Given the description of an element on the screen output the (x, y) to click on. 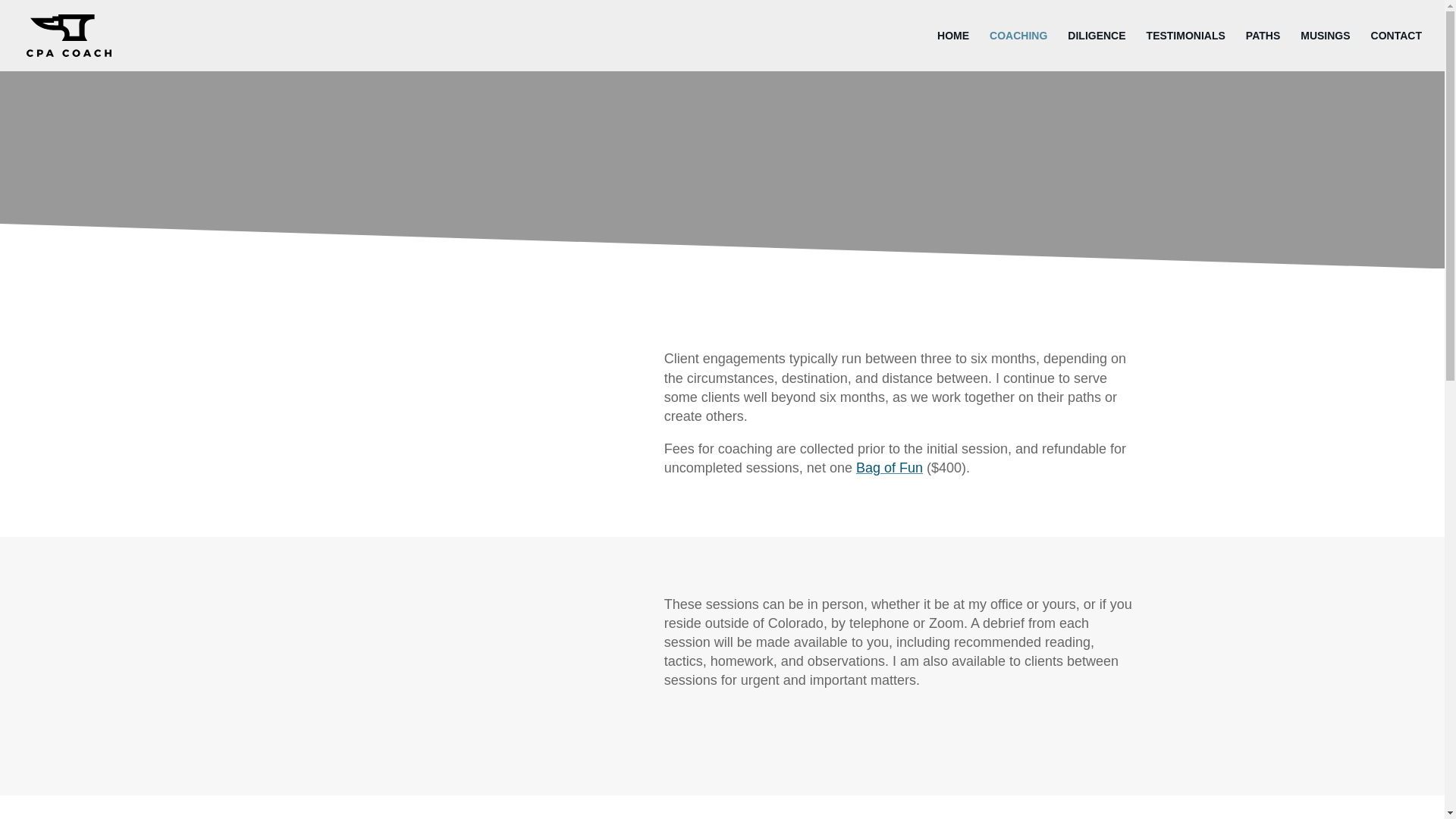
Bag of Fun (889, 467)
TESTIMONIALS (1186, 50)
CONTACT (1396, 50)
DILIGENCE (1096, 50)
MUSINGS (1324, 50)
COACHING (1018, 50)
